Given the description of an element on the screen output the (x, y) to click on. 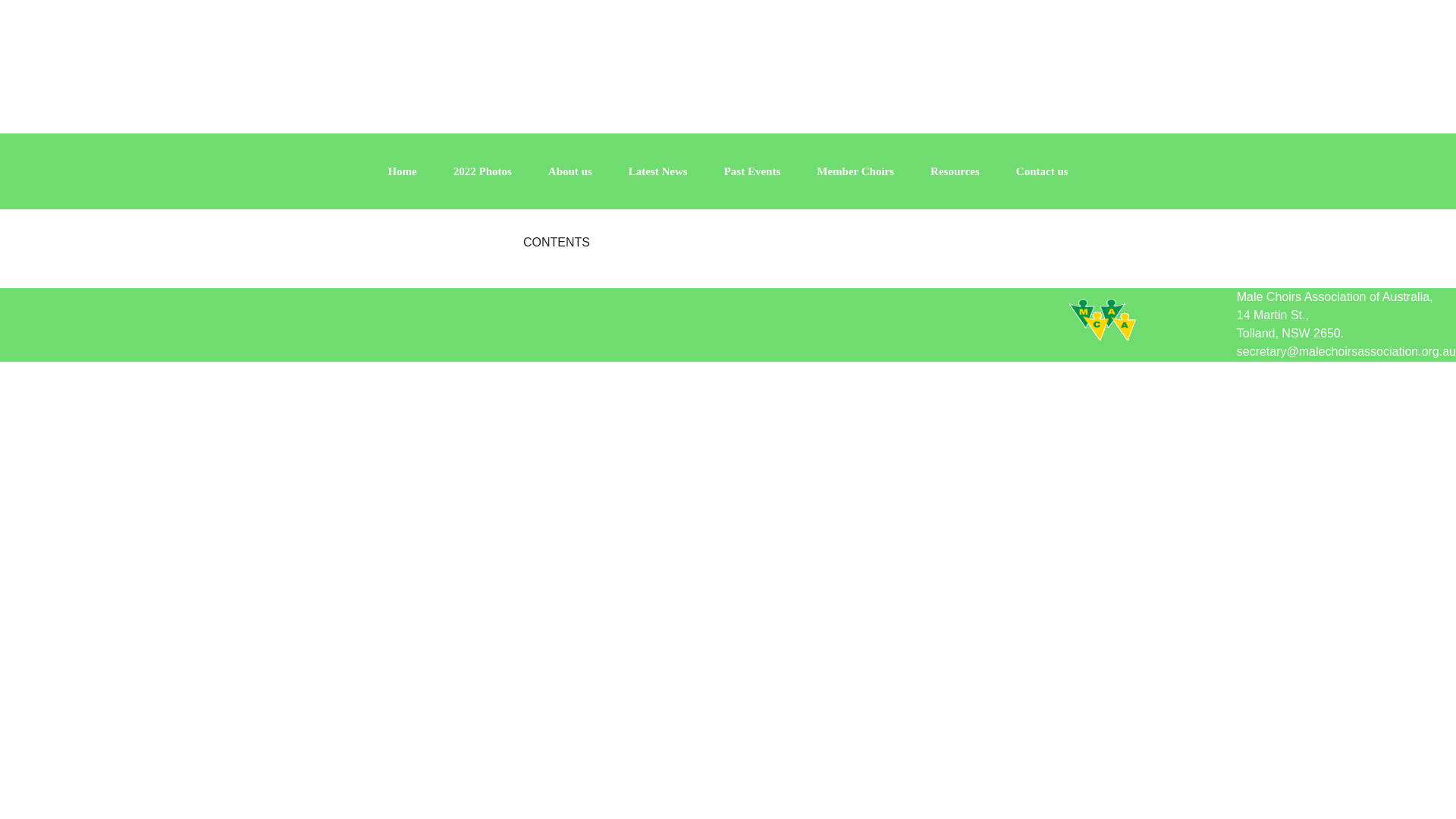
Past Events Element type: text (752, 171)
Resources Element type: text (954, 171)
Home Element type: text (410, 171)
Member Choirs Element type: text (855, 171)
About us Element type: text (570, 171)
Latest News Element type: text (658, 171)
2022 Photos Element type: text (482, 171)
Contact us Element type: text (1032, 171)
